Given the description of an element on the screen output the (x, y) to click on. 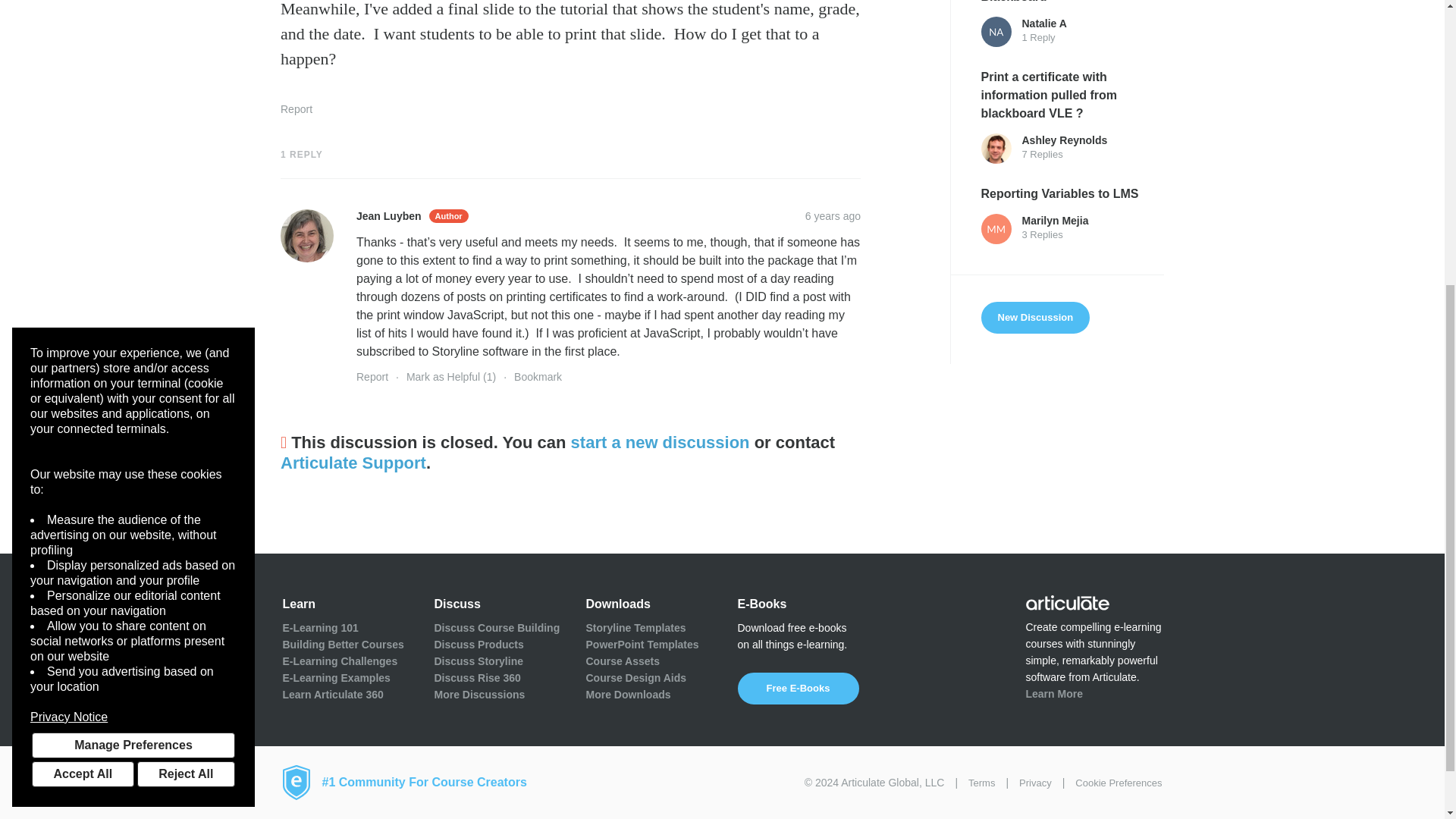
Reject All (185, 311)
Marilyn Mejia (996, 228)
Copy URL to Clipboard (832, 215)
Jean Luyben (307, 235)
Ashley Reynolds (996, 148)
Manage Preferences (133, 282)
Natalie A (996, 31)
Privacy Notice (132, 254)
Accept All (82, 311)
